Given the description of an element on the screen output the (x, y) to click on. 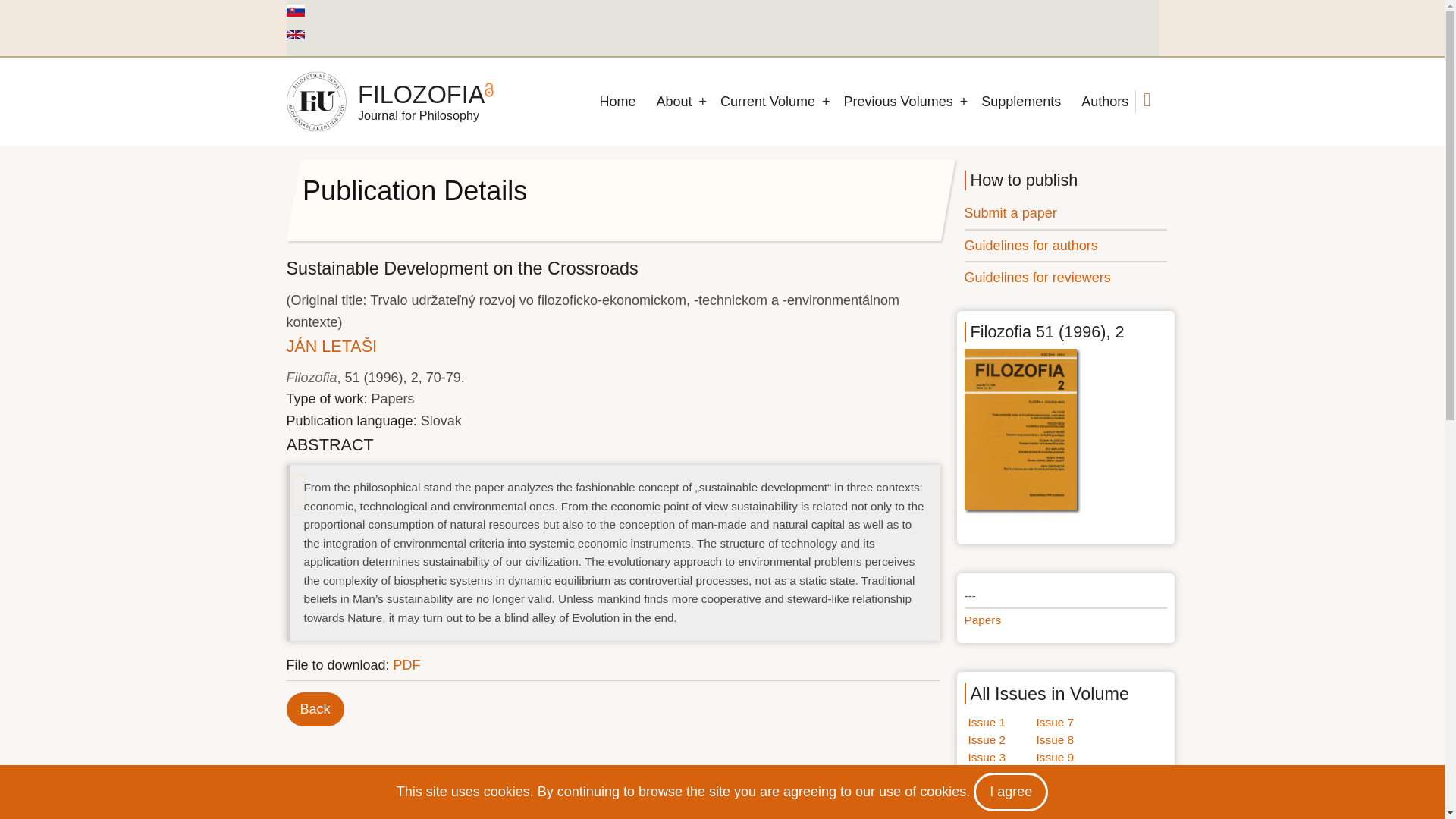
Previous Volumes (898, 101)
Authors (1104, 101)
Home (316, 101)
About (673, 101)
Current Volume (767, 101)
Home (421, 94)
Home (617, 101)
Supplements (1020, 101)
FILOZOFIA (421, 94)
